Given the description of an element on the screen output the (x, y) to click on. 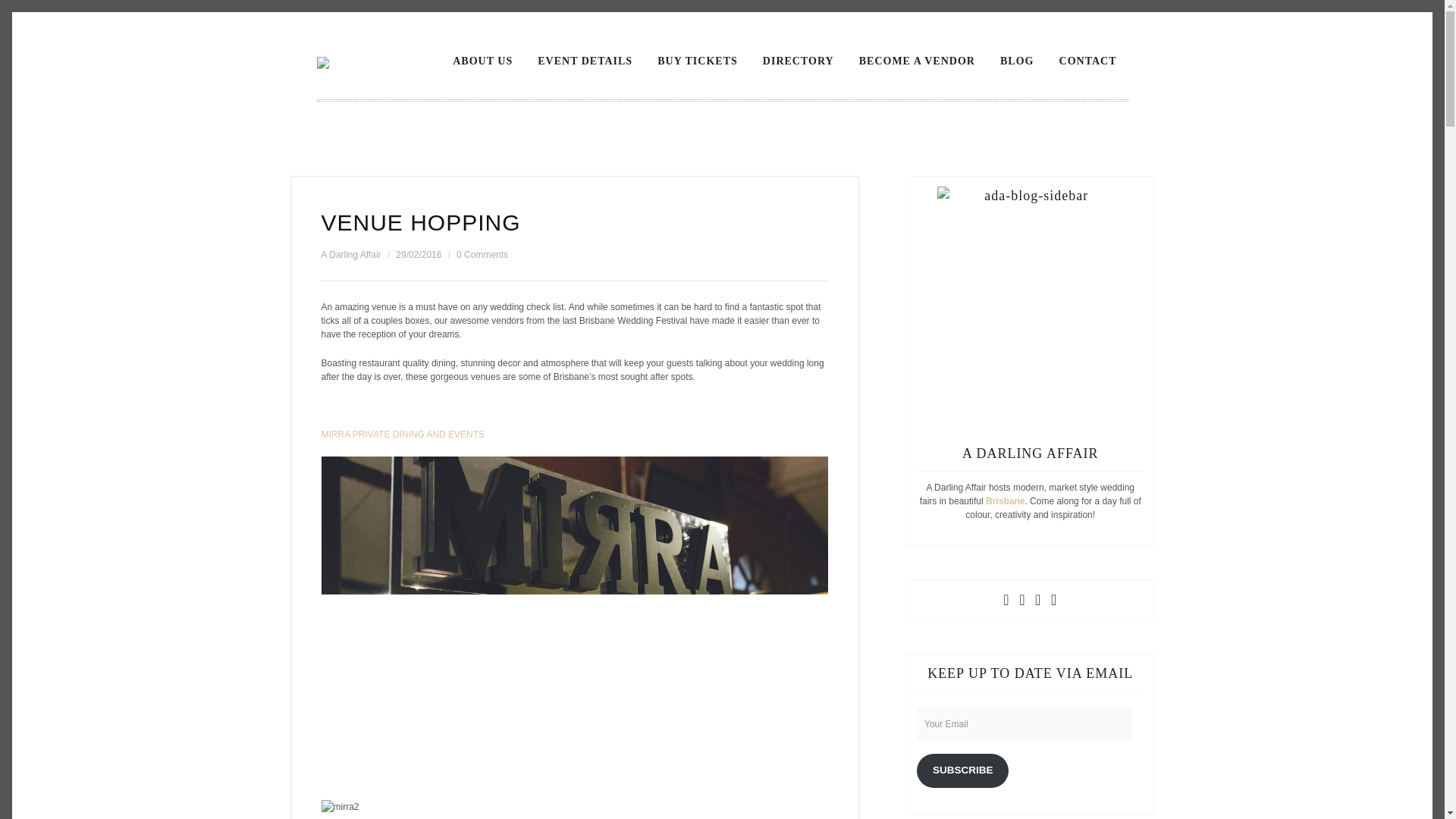
MIRRA PRIVATE DINING AND EVENTS (402, 434)
EVENT DETAILS (584, 61)
BUY TICKETS (697, 61)
A Darling Affair (351, 254)
ABOUT US (482, 61)
Posts by A Darling Affair (351, 254)
Brisbane (1005, 501)
VENUE HOPPING (421, 222)
Brisbane (1005, 501)
CONTACT (1088, 61)
0 Comments (482, 254)
BECOME A VENDOR (917, 61)
BLOG (1016, 61)
DIRECTORY (798, 61)
